Given the description of an element on the screen output the (x, y) to click on. 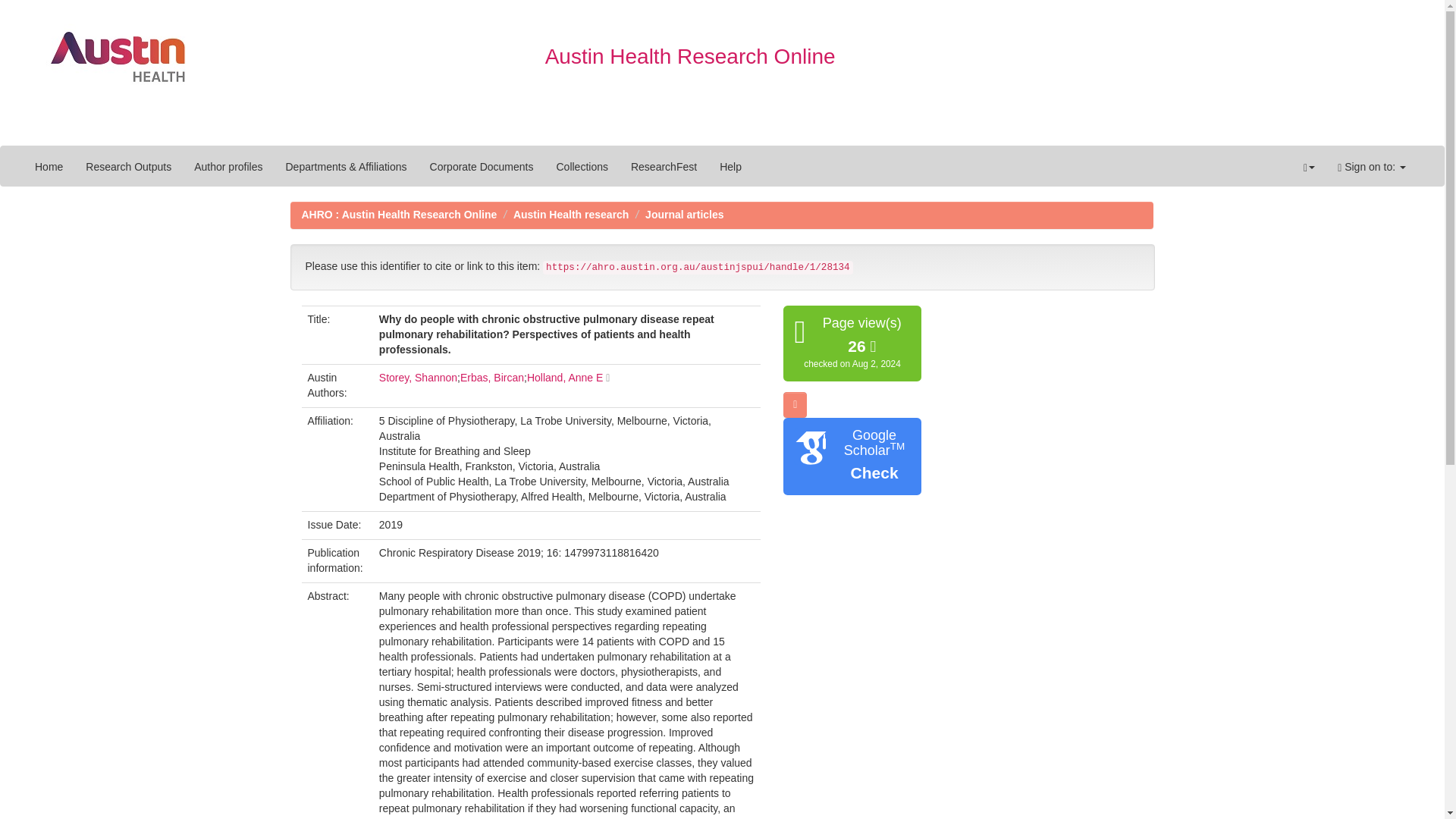
ResearchFest (663, 166)
Check (874, 472)
Corporate Documents (481, 166)
Research Outputs (128, 166)
Holland, Anne E (564, 377)
Link to rp03930 (564, 377)
Journal articles (684, 214)
Collections (581, 166)
Author profiles (228, 166)
Storey, Shannon (417, 377)
Austin Health research (570, 214)
AHRO : Austin Health Research Online (399, 214)
Help (729, 166)
26 (861, 347)
Home (48, 166)
